Given the description of an element on the screen output the (x, y) to click on. 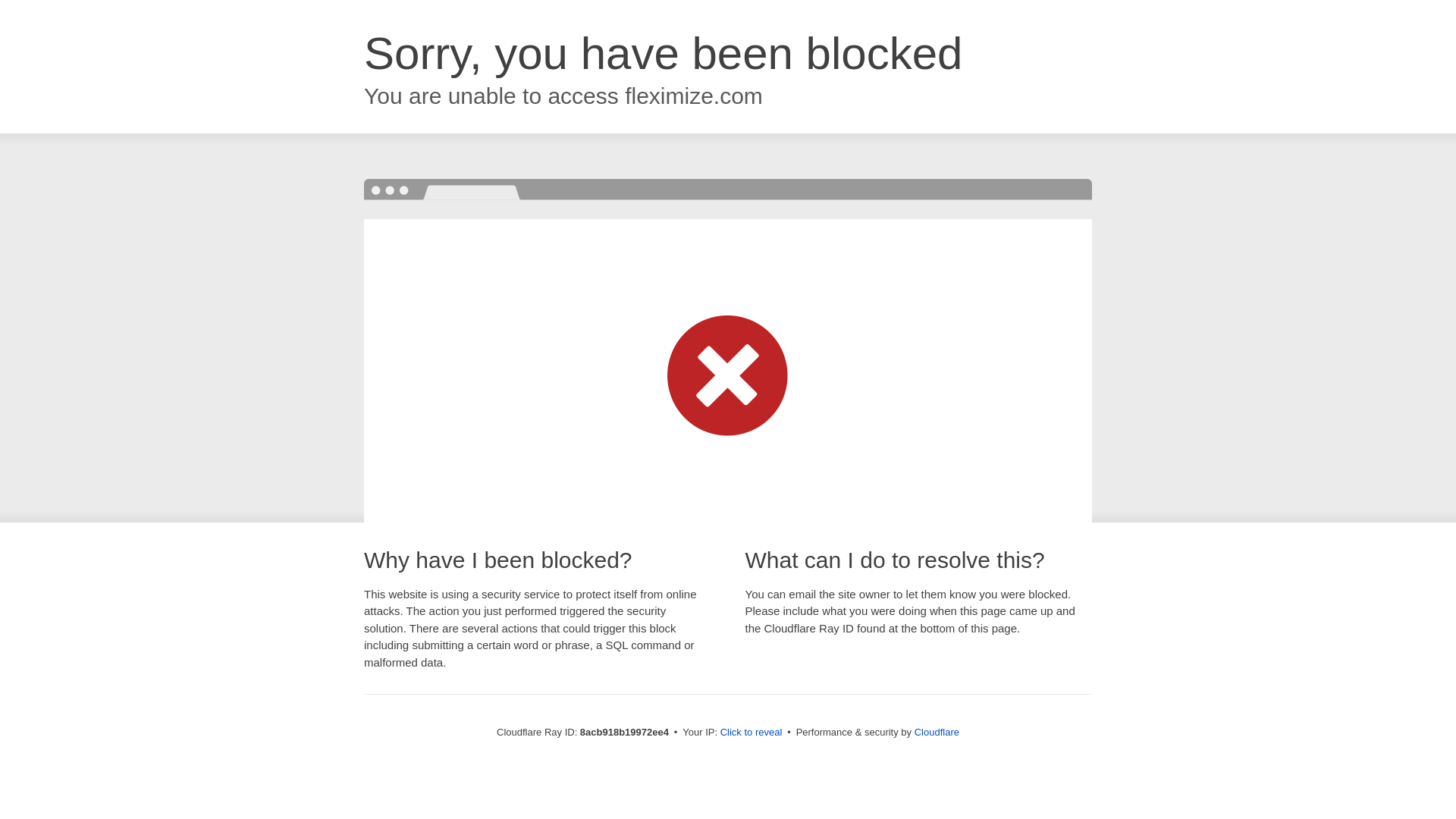
Cloudflare (936, 731)
Click to reveal (751, 732)
